Given the description of an element on the screen output the (x, y) to click on. 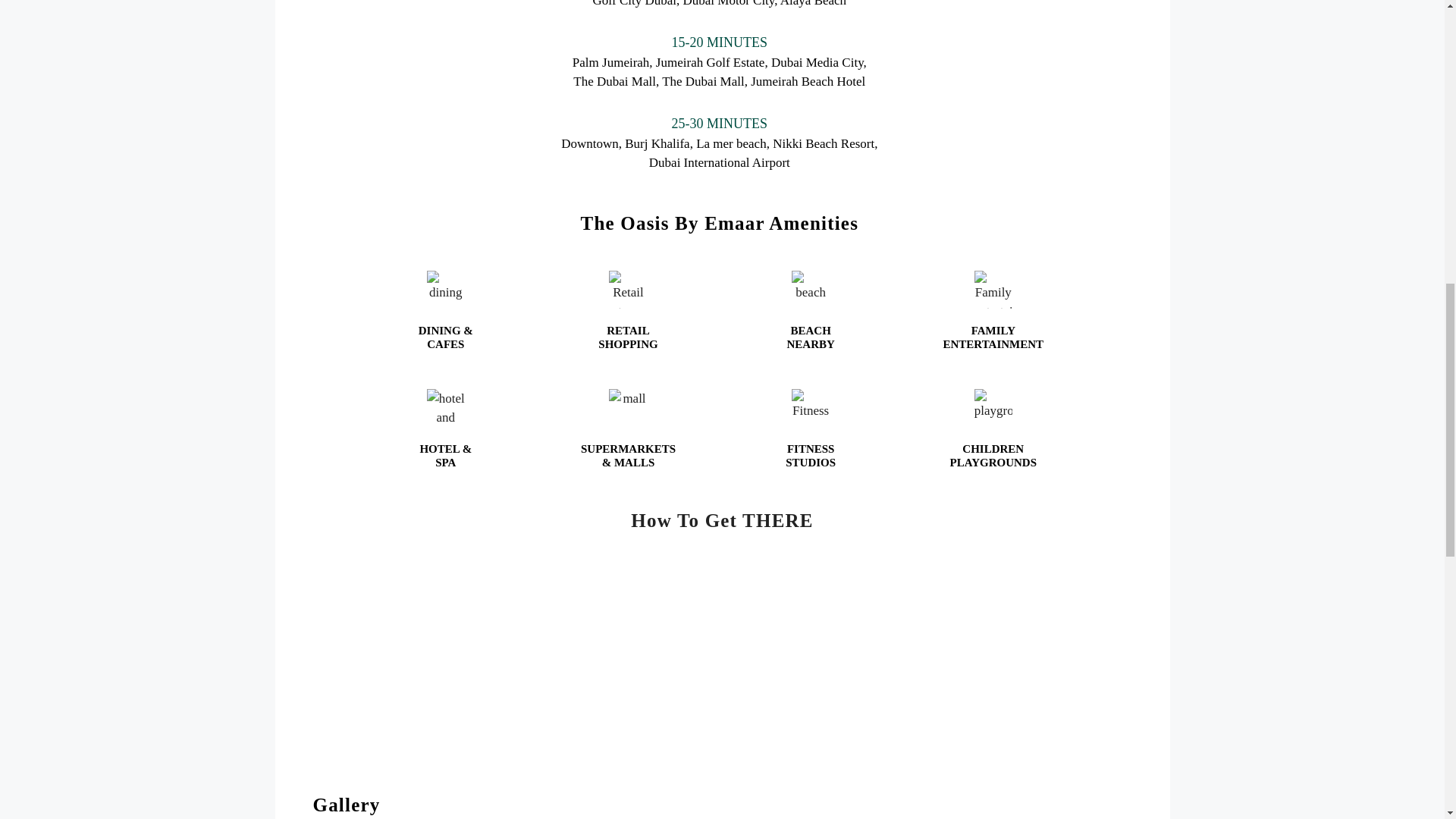
hotel and spa (445, 407)
Retail stores (627, 289)
beach access (810, 289)
Family entertainment 1 (992, 289)
dining (445, 289)
